Given the description of an element on the screen output the (x, y) to click on. 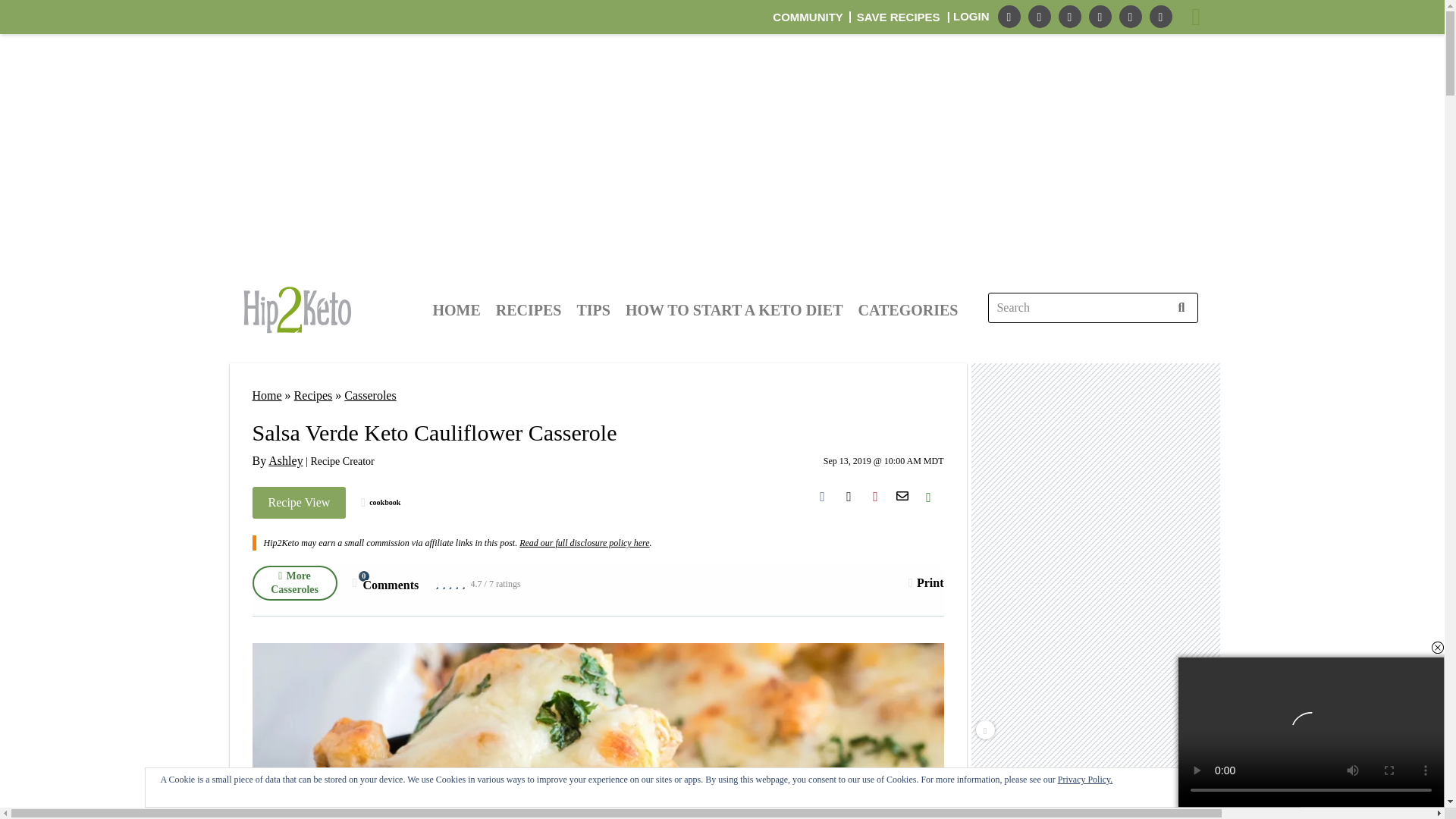
cookbook (380, 502)
Recipes (313, 395)
Click to share on Facebook (822, 496)
Recipe View (298, 502)
Home (266, 395)
3rd party ad content (1095, 596)
HOW TO START A KETO DIET (734, 309)
Print (925, 583)
CATEGORIES (908, 309)
Click to share on H2S Email (385, 583)
RECIPES (902, 496)
HOME (529, 309)
COMMUNITY (456, 309)
TIPS (808, 16)
